Given the description of an element on the screen output the (x, y) to click on. 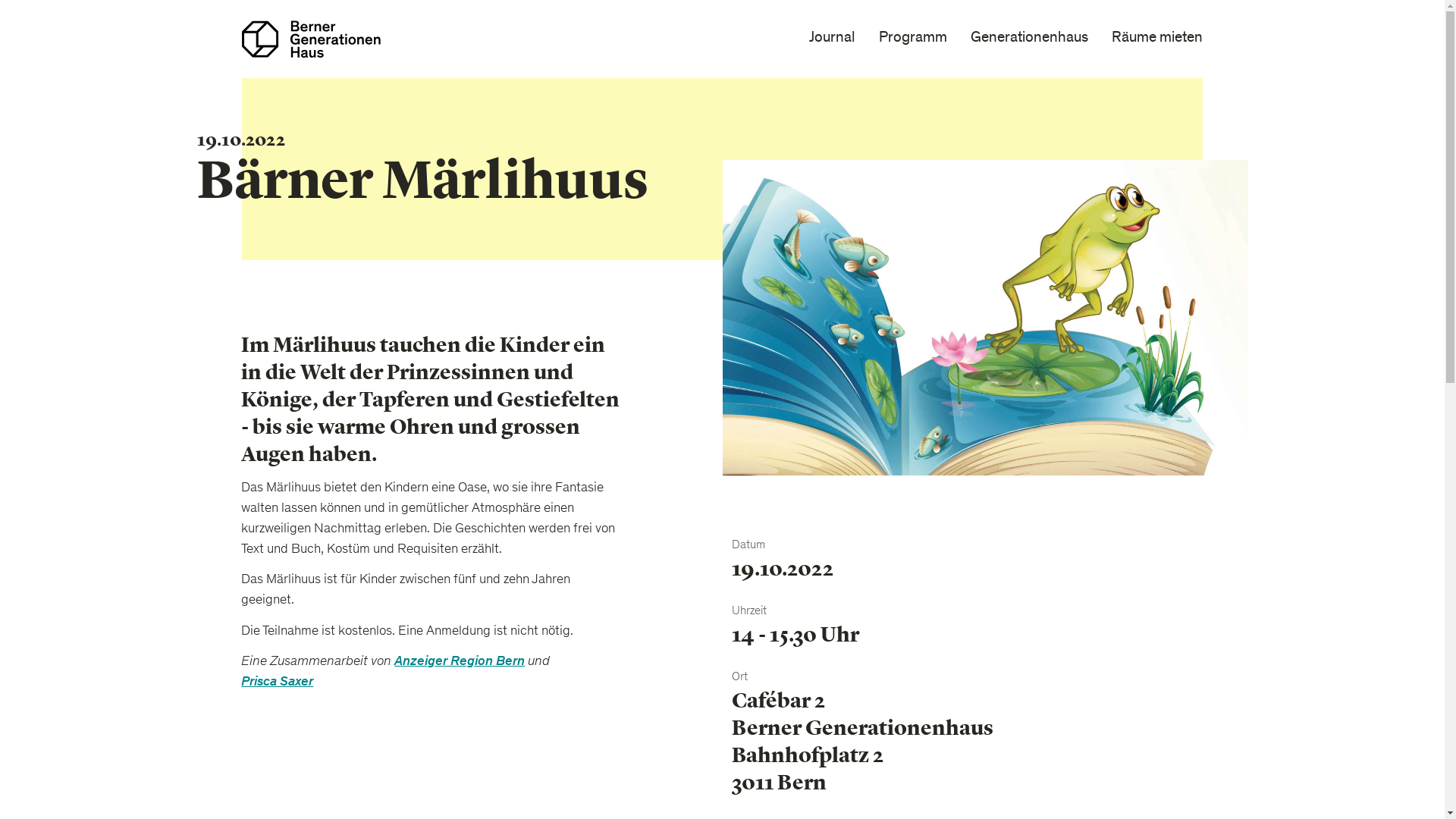
Anzeiger Region Bern Element type: text (459, 662)
Direkt zum Inhalt Element type: text (0, 0)
Prisca Saxer Element type: text (277, 682)
Programm Element type: text (912, 38)
Generationenhaus Element type: text (1029, 38)
Journal Element type: text (832, 38)
